Given the description of an element on the screen output the (x, y) to click on. 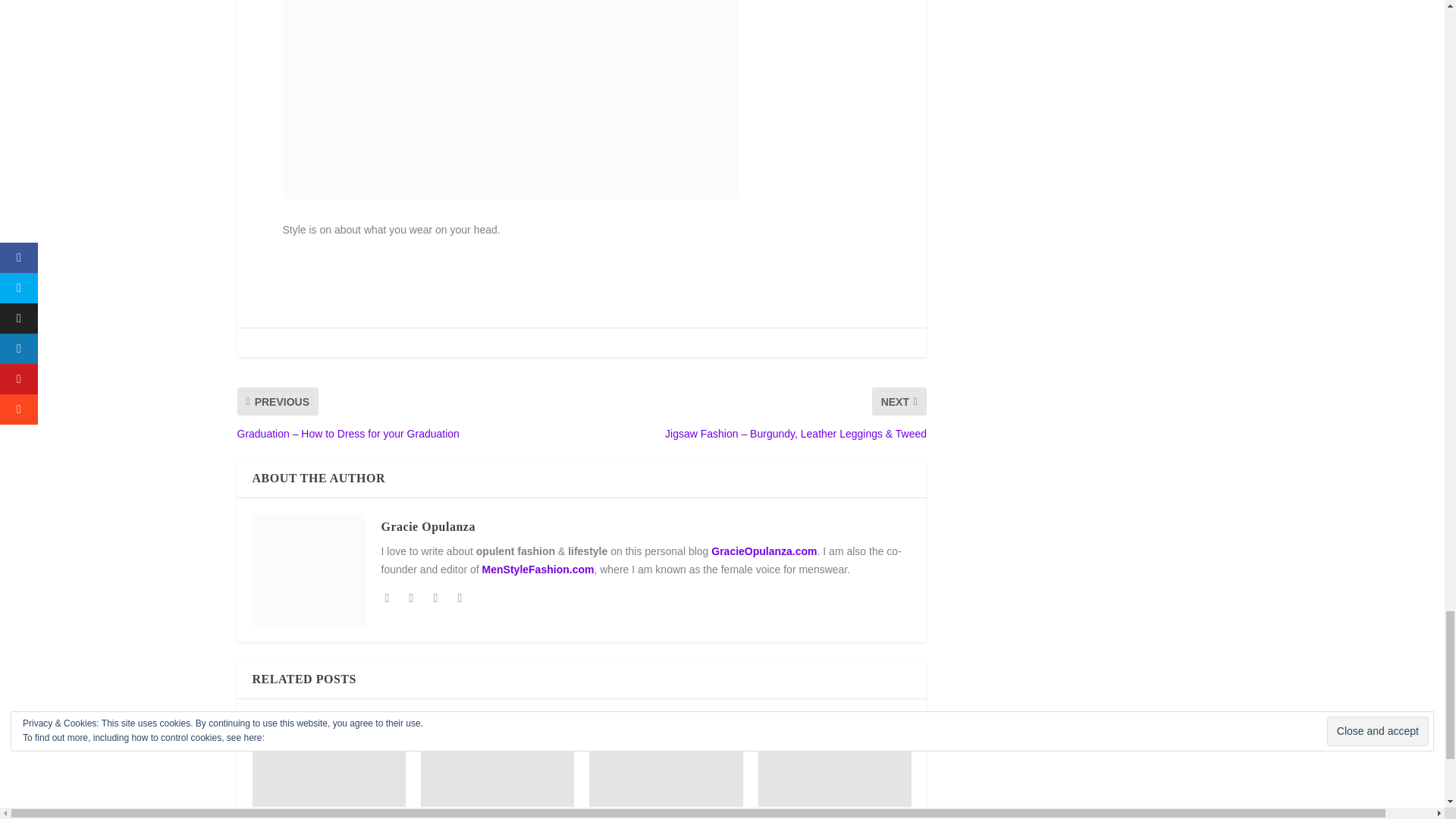
View all posts by Gracie Opulanza (427, 526)
Embracing The 1970s Maxi Dress for a Summer of Opulence (665, 759)
